Given the description of an element on the screen output the (x, y) to click on. 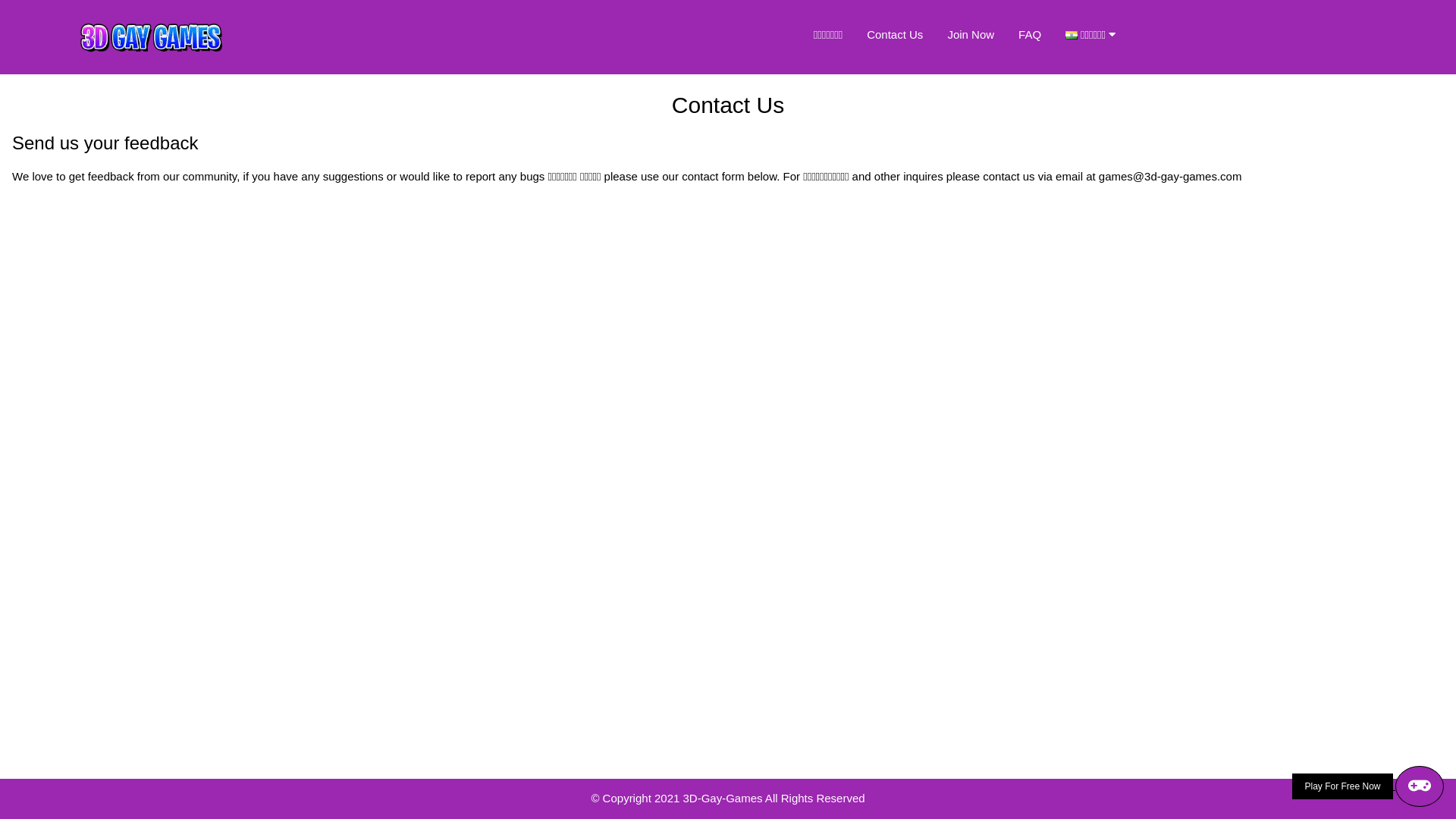
Join Now Element type: text (970, 35)
FAQ Element type: text (1029, 35)
Contact Us Element type: text (894, 35)
Play For Free Now Element type: text (1367, 785)
